Given the description of an element on the screen output the (x, y) to click on. 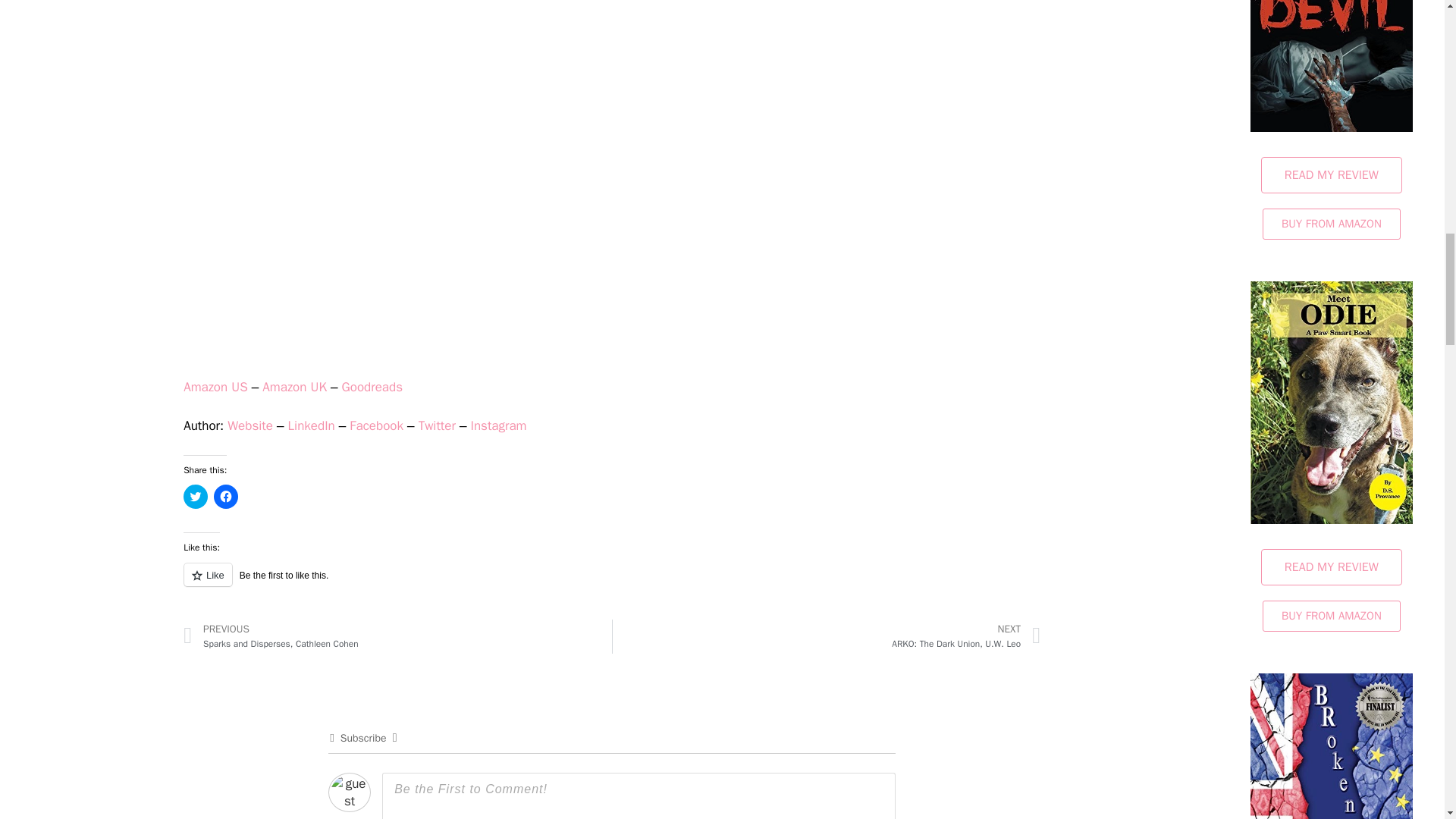
Website (250, 425)
Click to share on Twitter (195, 496)
Twitter (437, 425)
Click to share on Facebook (226, 496)
Amazon US (215, 386)
Facebook (376, 425)
LinkedIn (311, 425)
Like or Reblog (612, 583)
Goodreads (372, 386)
Amazon UK (294, 386)
